Given the description of an element on the screen output the (x, y) to click on. 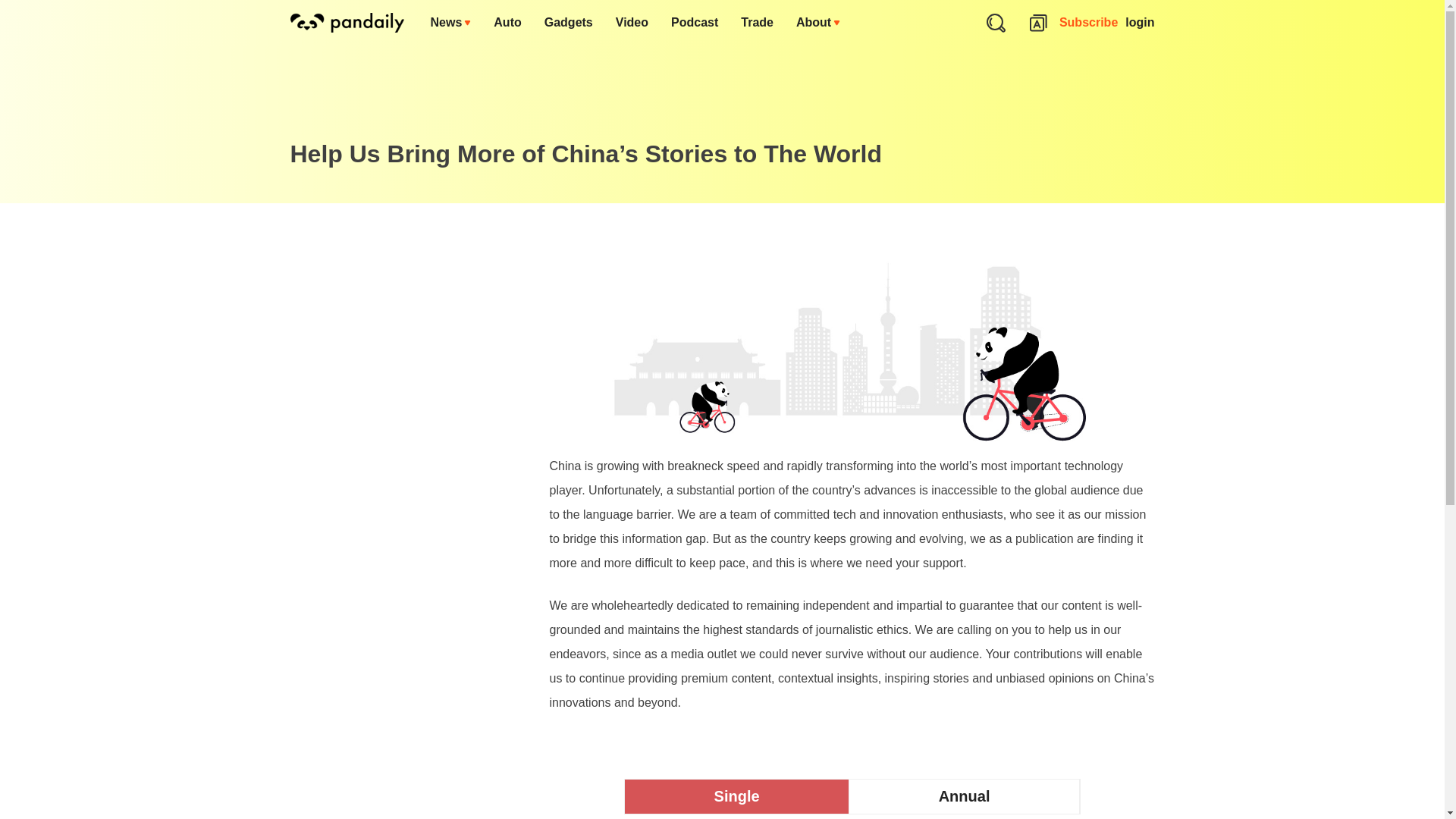
Video (631, 22)
Auto (506, 22)
Gadgets (568, 22)
Trade (756, 22)
login (1139, 22)
News (450, 22)
Podcast (694, 22)
About (817, 22)
Subscribe (1088, 22)
